Given the description of an element on the screen output the (x, y) to click on. 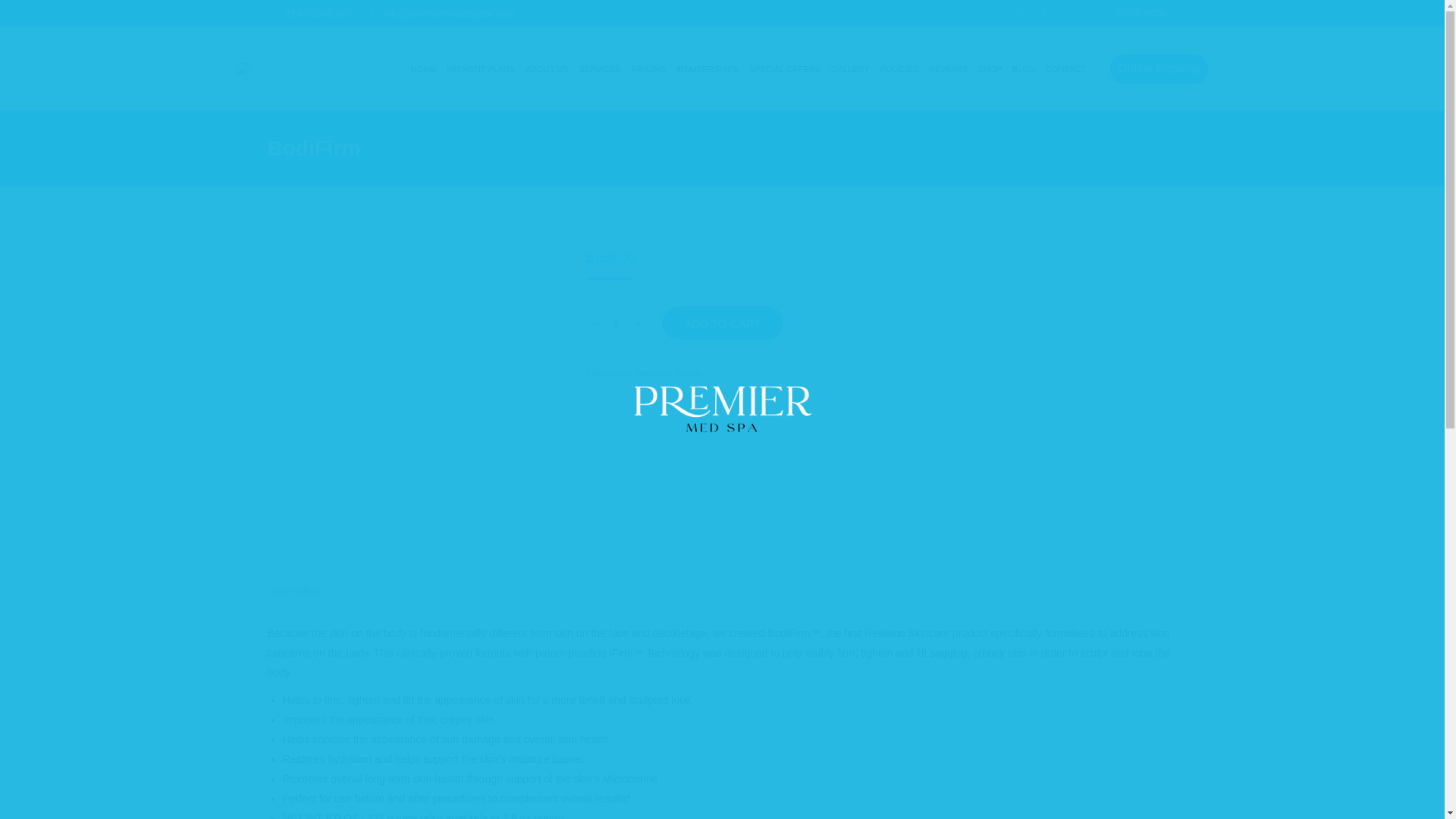
SERVICES (599, 67)
Facebook page opens in new window (1020, 13)
HOME (423, 67)
ABOUT US (546, 67)
BOOK NOW (1139, 13)
214-730-6300 (308, 13)
PAYMENT PLANS (480, 67)
Facebook page opens in new window (1020, 13)
1 (614, 322)
 0 (1077, 13)
Instagram page opens in new window (1043, 13)
Instagram page opens in new window (1043, 13)
